Given the description of an element on the screen output the (x, y) to click on. 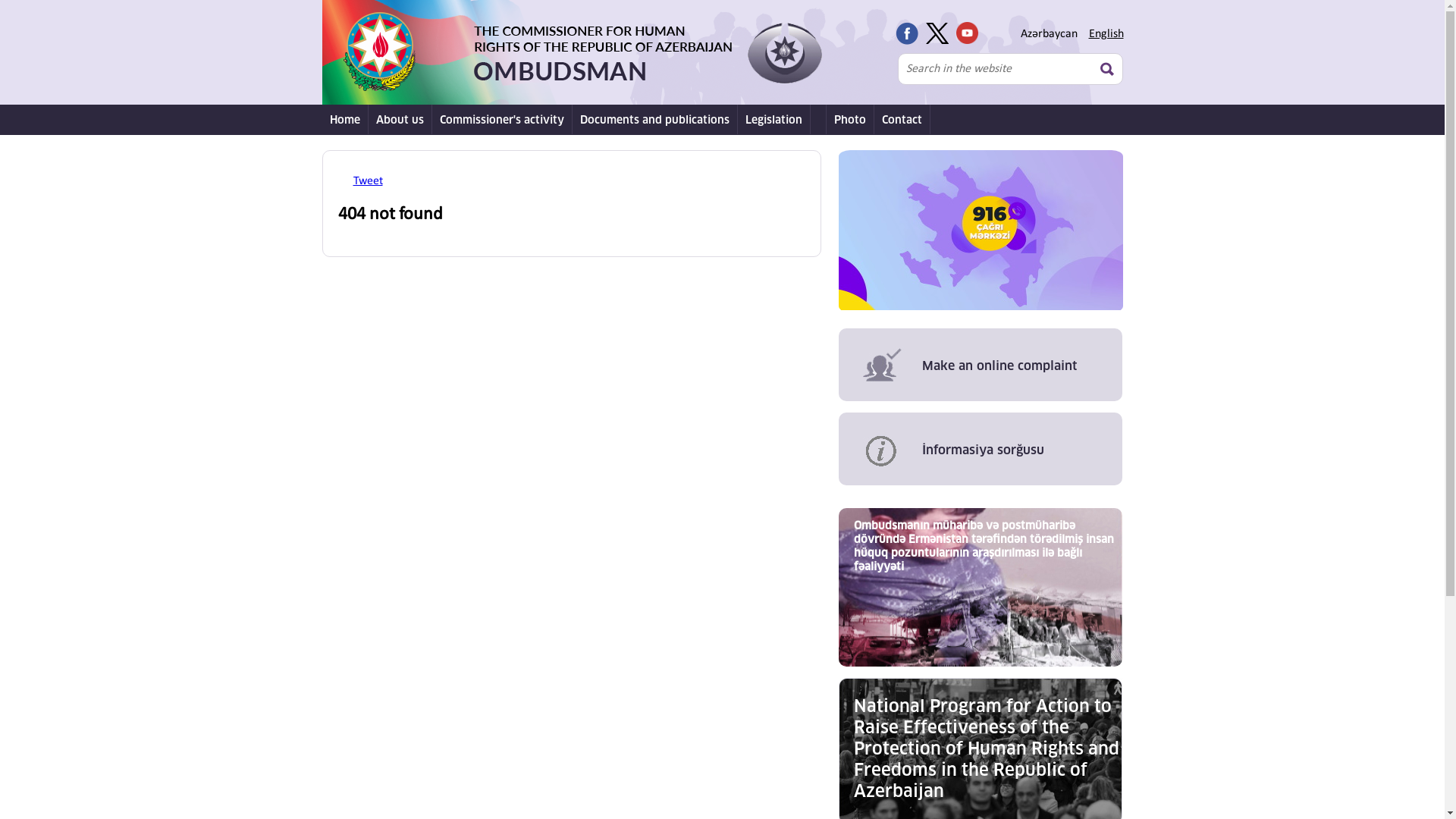
Home Element type: text (344, 119)
Commissioner's activity Element type: text (502, 119)
Photo Element type: text (850, 119)
Legislation Element type: text (773, 119)
Tweet Element type: text (367, 181)
Make an online complaint  Element type: text (980, 364)
Documents and publications Element type: text (654, 119)
About us Element type: text (400, 119)
English Element type: text (1105, 34)
Contact Element type: text (901, 119)
